Given the description of an element on the screen output the (x, y) to click on. 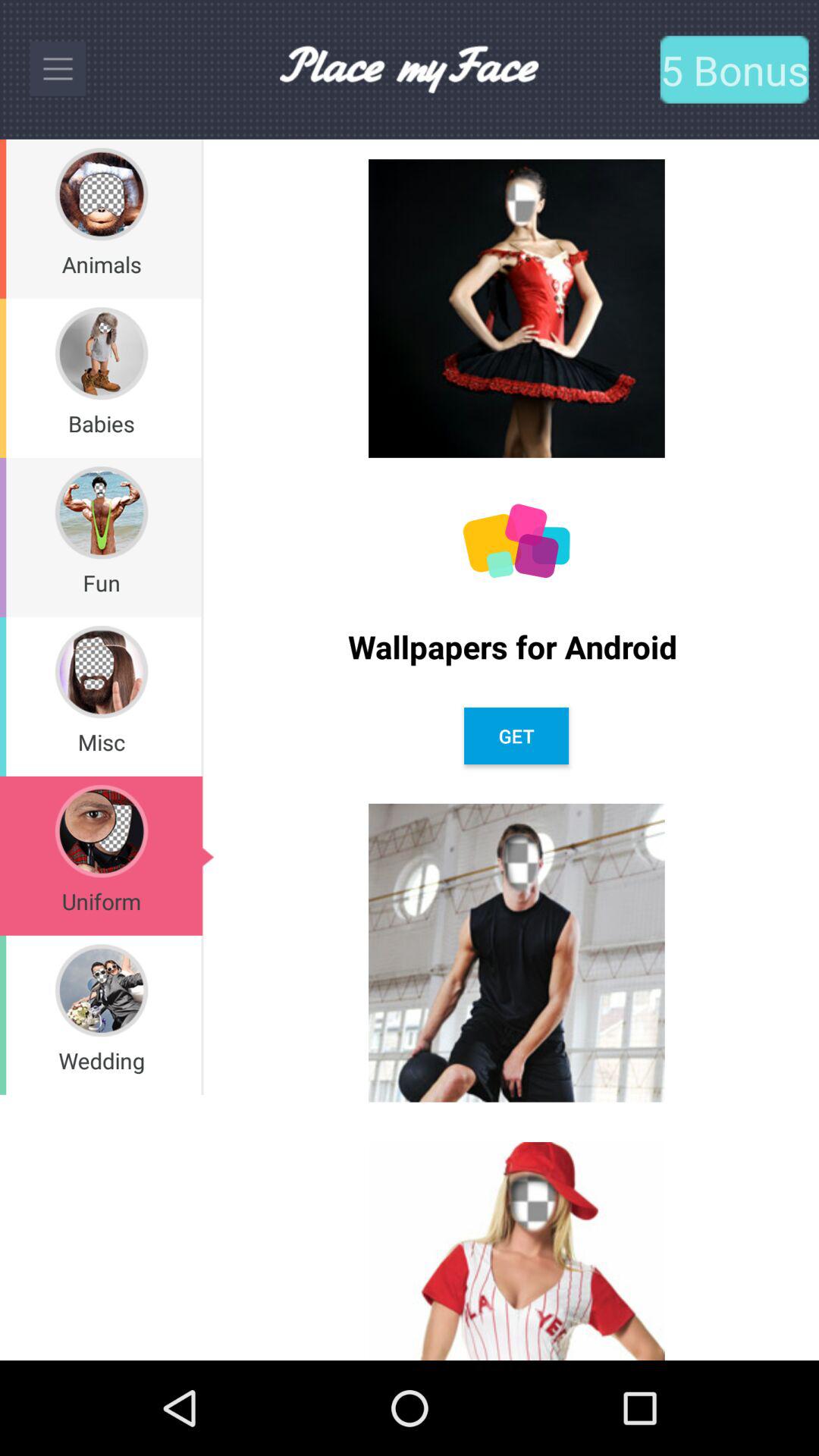
flip to babies icon (101, 423)
